Given the description of an element on the screen output the (x, y) to click on. 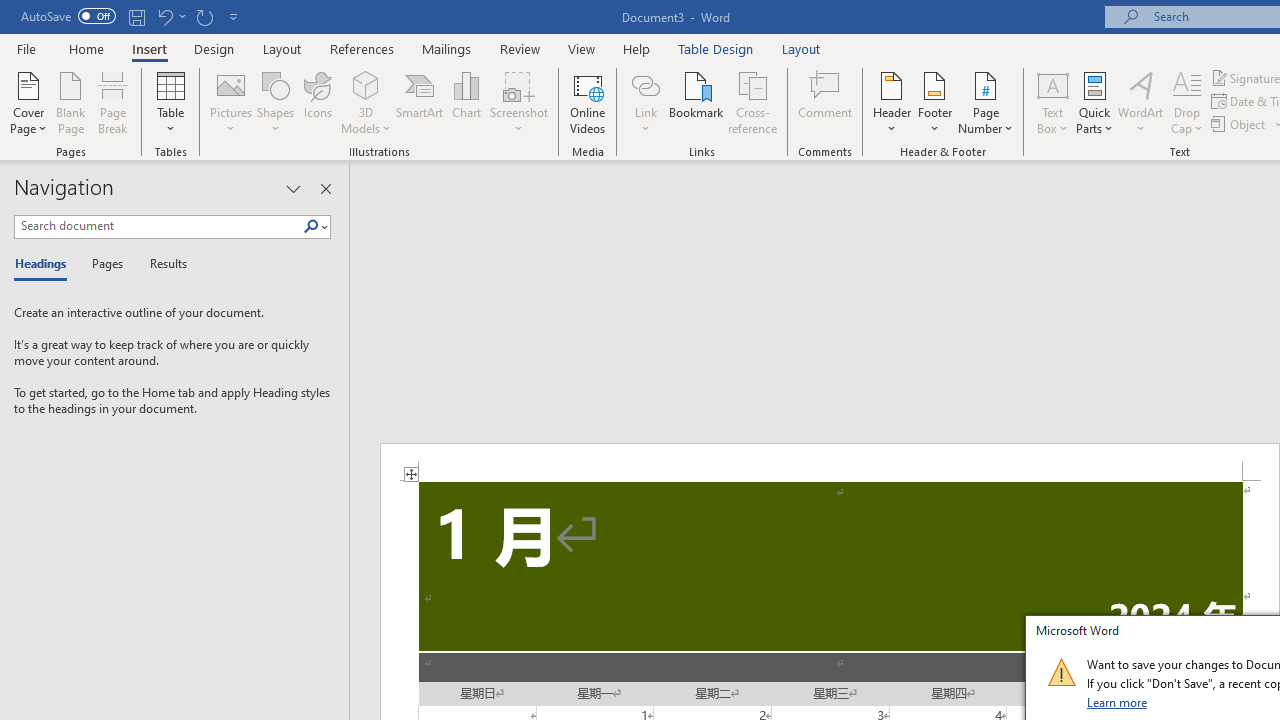
Customize Quick Access Toolbar (234, 15)
Search (311, 227)
Home (86, 48)
Page Break (113, 102)
Cross-reference... (752, 102)
Save (136, 15)
Comment (825, 102)
File Tab (26, 48)
Insert (149, 48)
Undo Increase Indent (170, 15)
AutoSave (68, 16)
Icons (317, 102)
Link (645, 102)
WordArt (1141, 102)
Footer (934, 102)
